Given the description of an element on the screen output the (x, y) to click on. 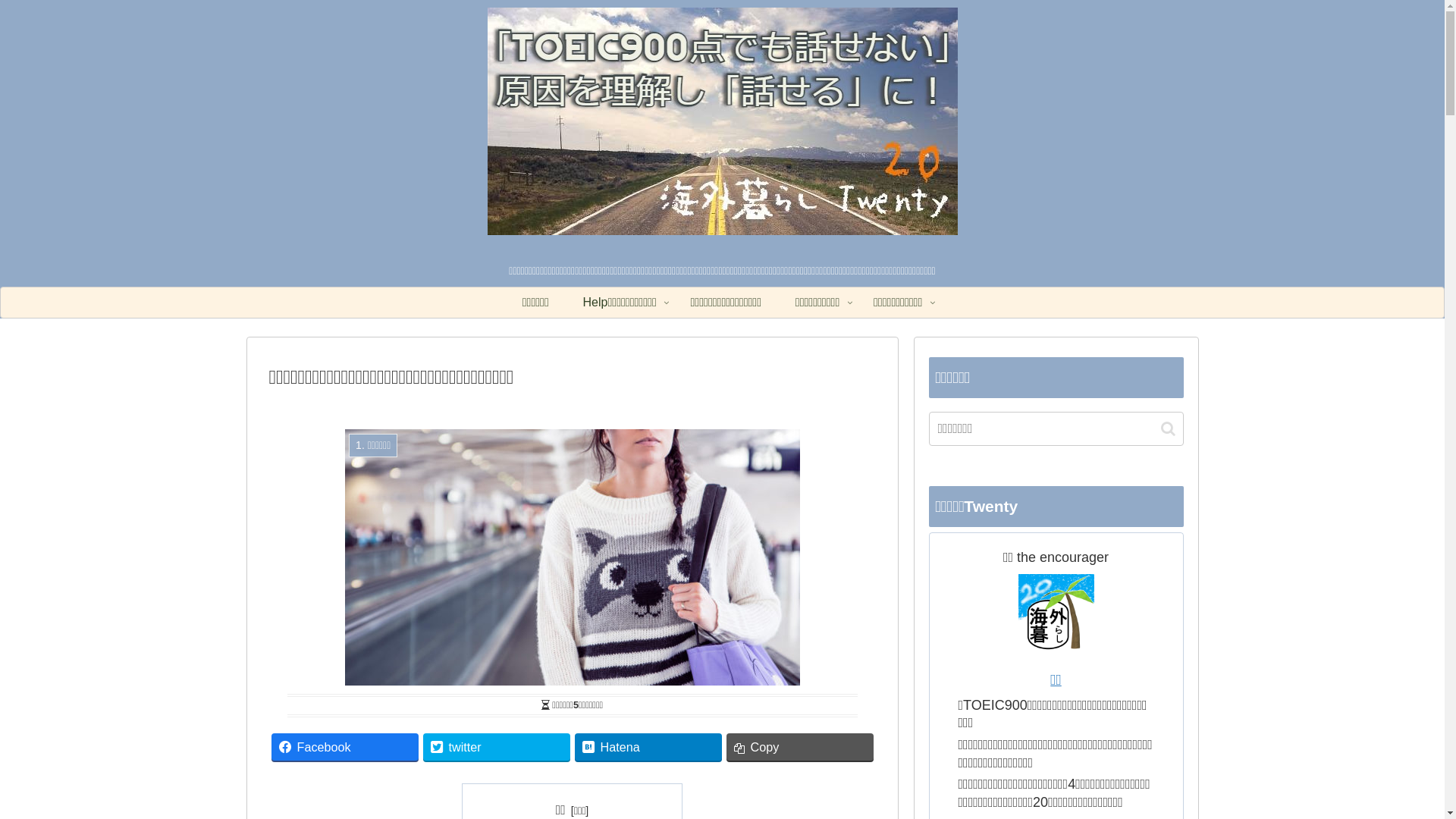
twitter Element type: text (496, 745)
Facebook Element type: text (344, 745)
Hatena Element type: text (647, 745)
Copy Element type: text (799, 745)
